Given the description of an element on the screen output the (x, y) to click on. 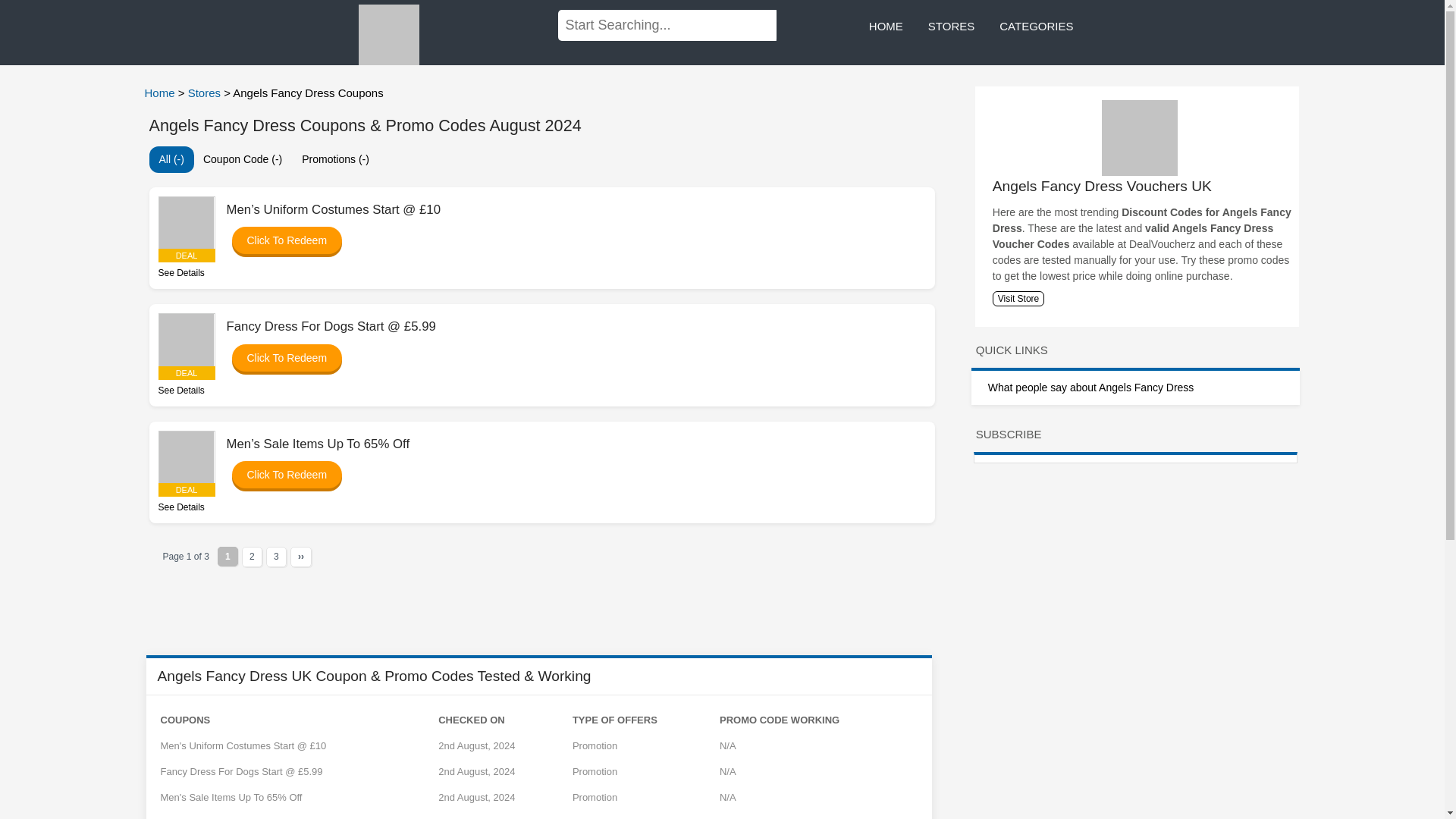
Home (160, 92)
Click To Redeem (279, 357)
STORES (951, 27)
Stores (205, 92)
Click To Redeem (279, 239)
CATEGORIES (1035, 27)
HOME (885, 27)
